Given the description of an element on the screen output the (x, y) to click on. 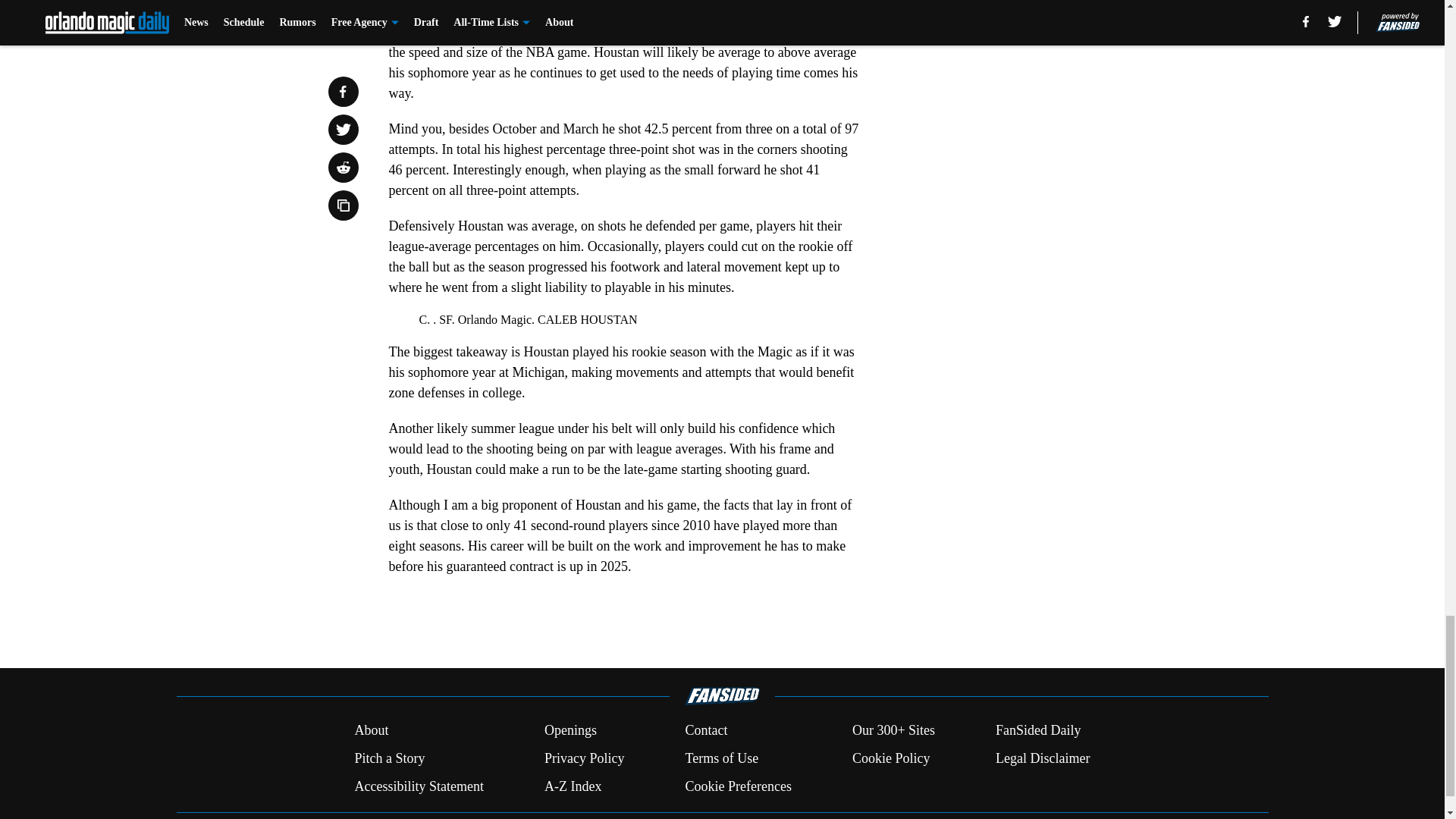
Cookie Policy (890, 758)
Terms of Use (721, 758)
Legal Disclaimer (1042, 758)
About (370, 730)
Pitch a Story (389, 758)
Contact (705, 730)
Cookie Preferences (737, 786)
A-Z Index (572, 786)
Accessibility Statement (418, 786)
FanSided Daily (1038, 730)
